Given the description of an element on the screen output the (x, y) to click on. 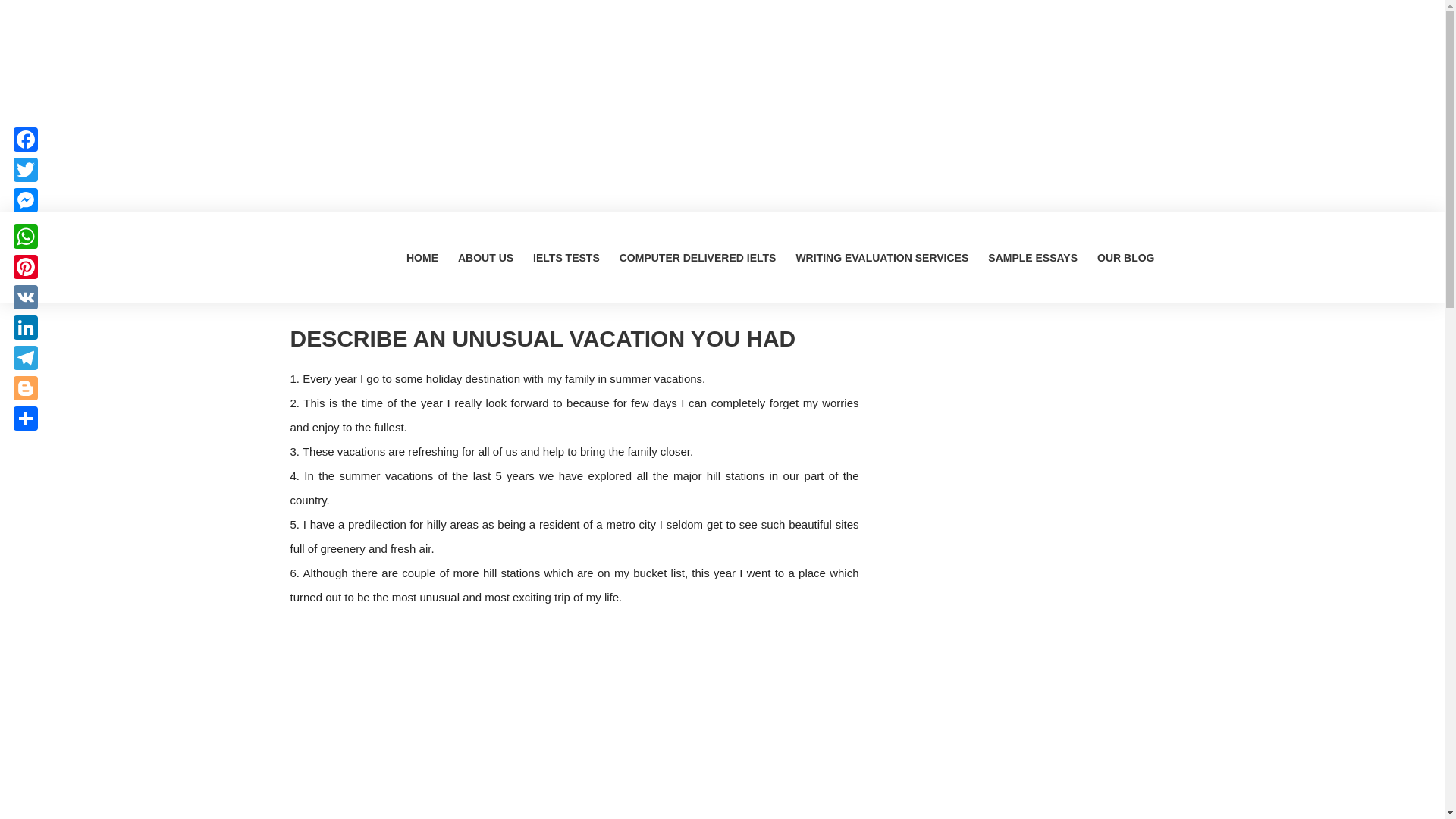
SAMPLE ESSAYS (1032, 257)
COMPUTER DELIVERED IELTS (698, 257)
Pinterest (25, 266)
WhatsApp (25, 236)
VK (25, 296)
Advertisement (1017, 430)
Twitter (25, 169)
Advertisement (1017, 784)
Facebook (25, 139)
Messenger (25, 200)
Advertisement (1017, 643)
IELTS TESTS (566, 257)
WRITING EVALUATION SERVICES (882, 257)
